Given the description of an element on the screen output the (x, y) to click on. 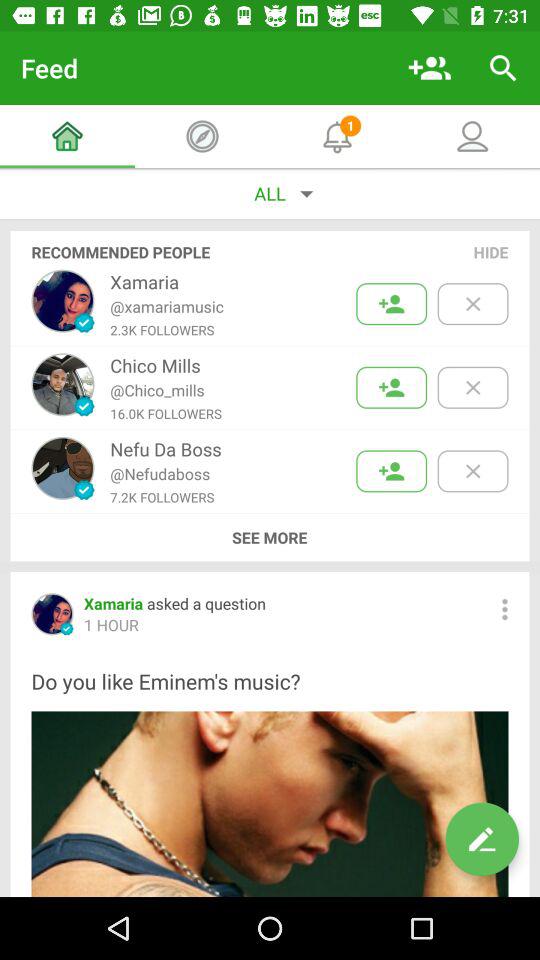
choose hide (491, 251)
